Given the description of an element on the screen output the (x, y) to click on. 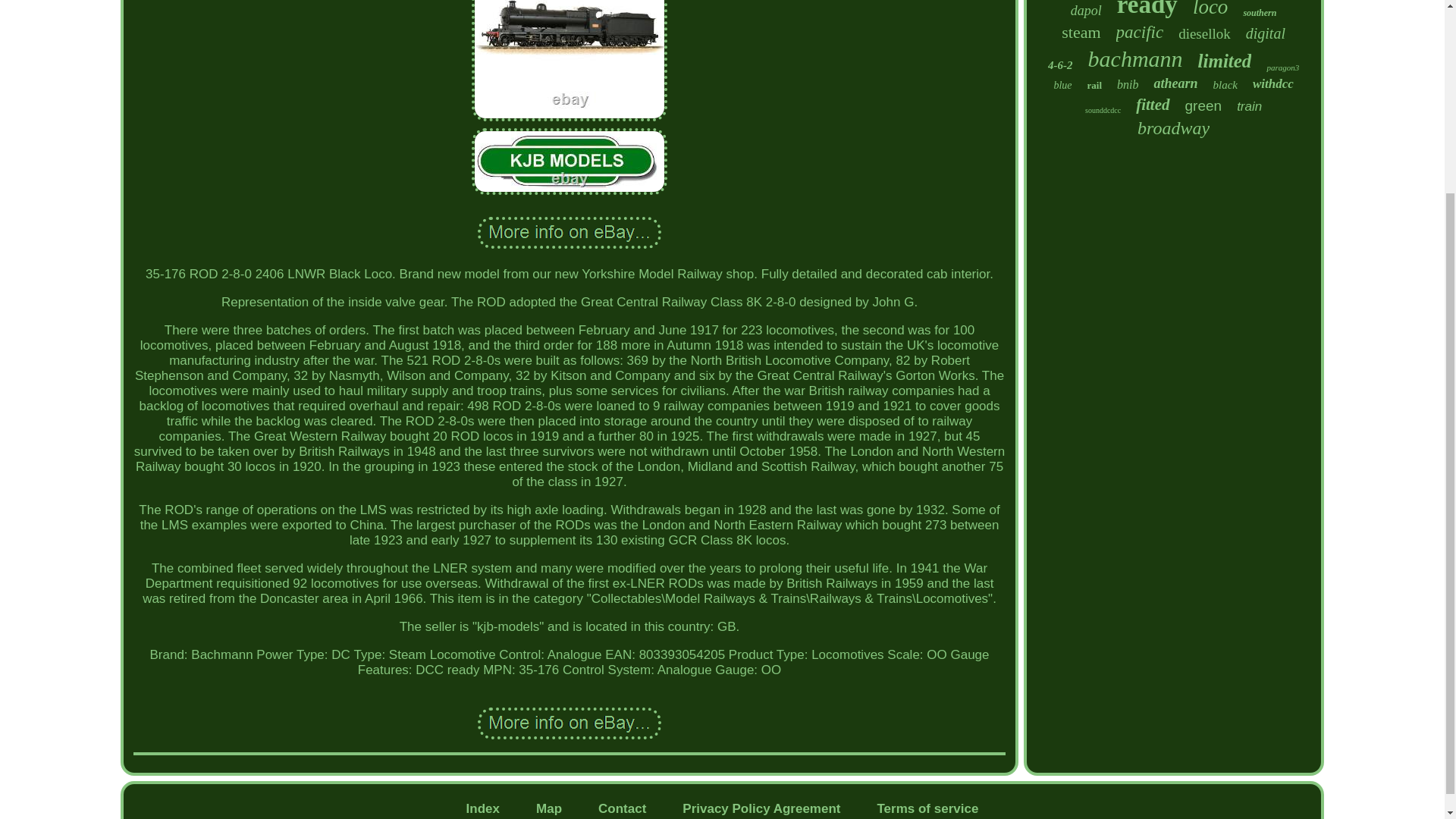
blue (1061, 85)
diesellok (1203, 33)
dapol (1086, 10)
4-6-2 (1060, 65)
southern (1259, 12)
loco (1210, 9)
pacific (1139, 32)
limited (1225, 61)
rail (1094, 85)
athearn (1174, 83)
digital (1265, 33)
paragon3 (1282, 67)
ready (1146, 9)
bachmann (1134, 58)
bnib (1127, 84)
